Given the description of an element on the screen output the (x, y) to click on. 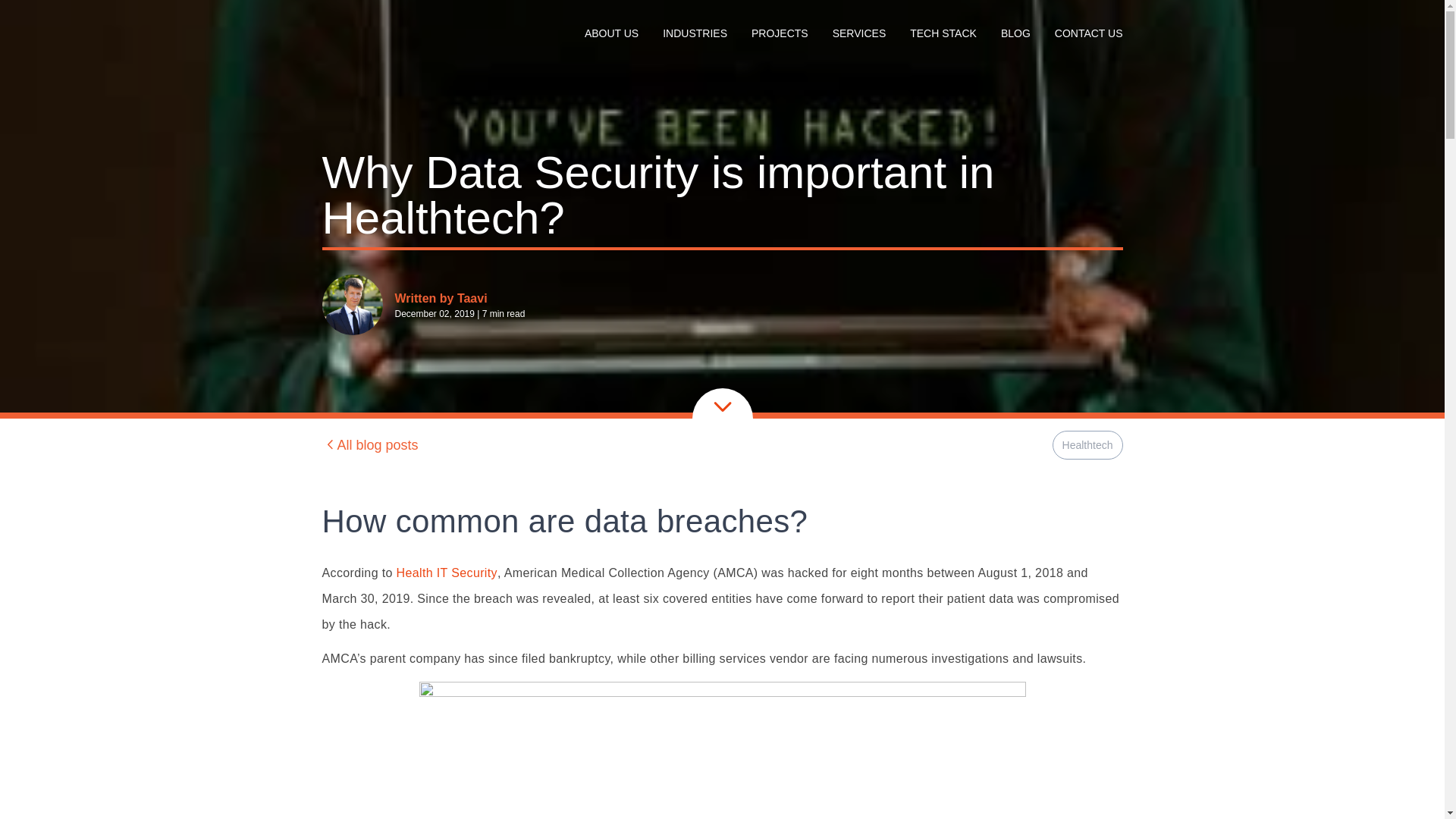
Health IT Security (446, 572)
ABOUT US (612, 33)
TECH STACK (943, 33)
PROJECTS (779, 33)
SERVICES (859, 33)
BLOG (1015, 33)
CONTACT US (1088, 33)
All blog posts (369, 444)
Healthtech (1087, 444)
INDUSTRIES (694, 33)
